Given the description of an element on the screen output the (x, y) to click on. 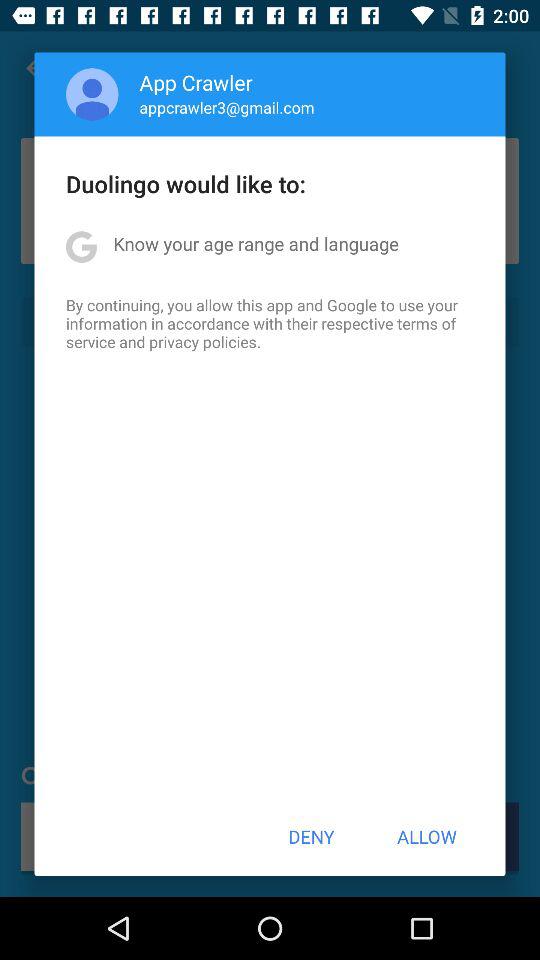
press app below the app crawler icon (226, 107)
